Given the description of an element on the screen output the (x, y) to click on. 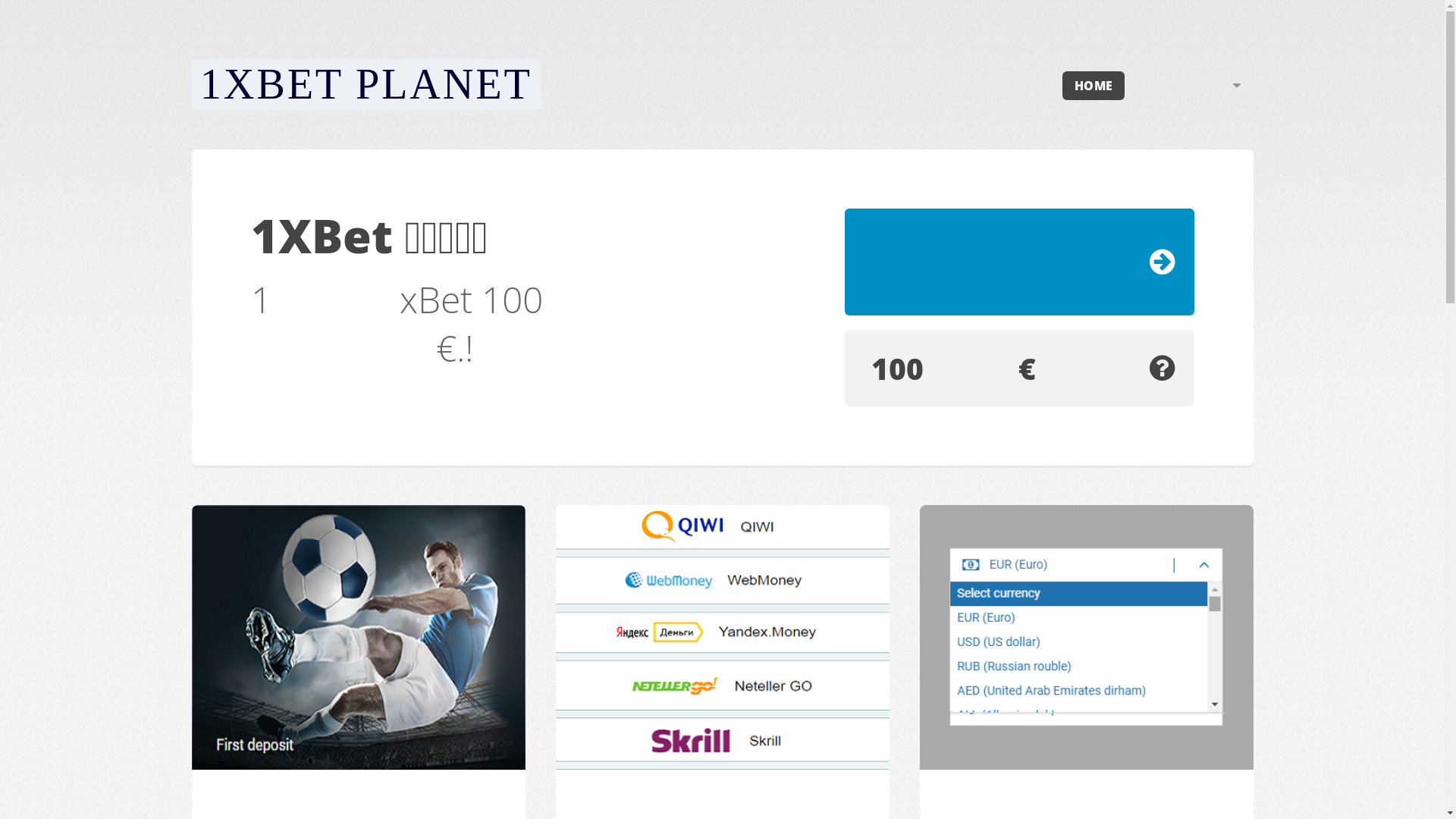
1XBET PLANET Element type: text (366, 83)
HOME Element type: text (1093, 85)
